Given the description of an element on the screen output the (x, y) to click on. 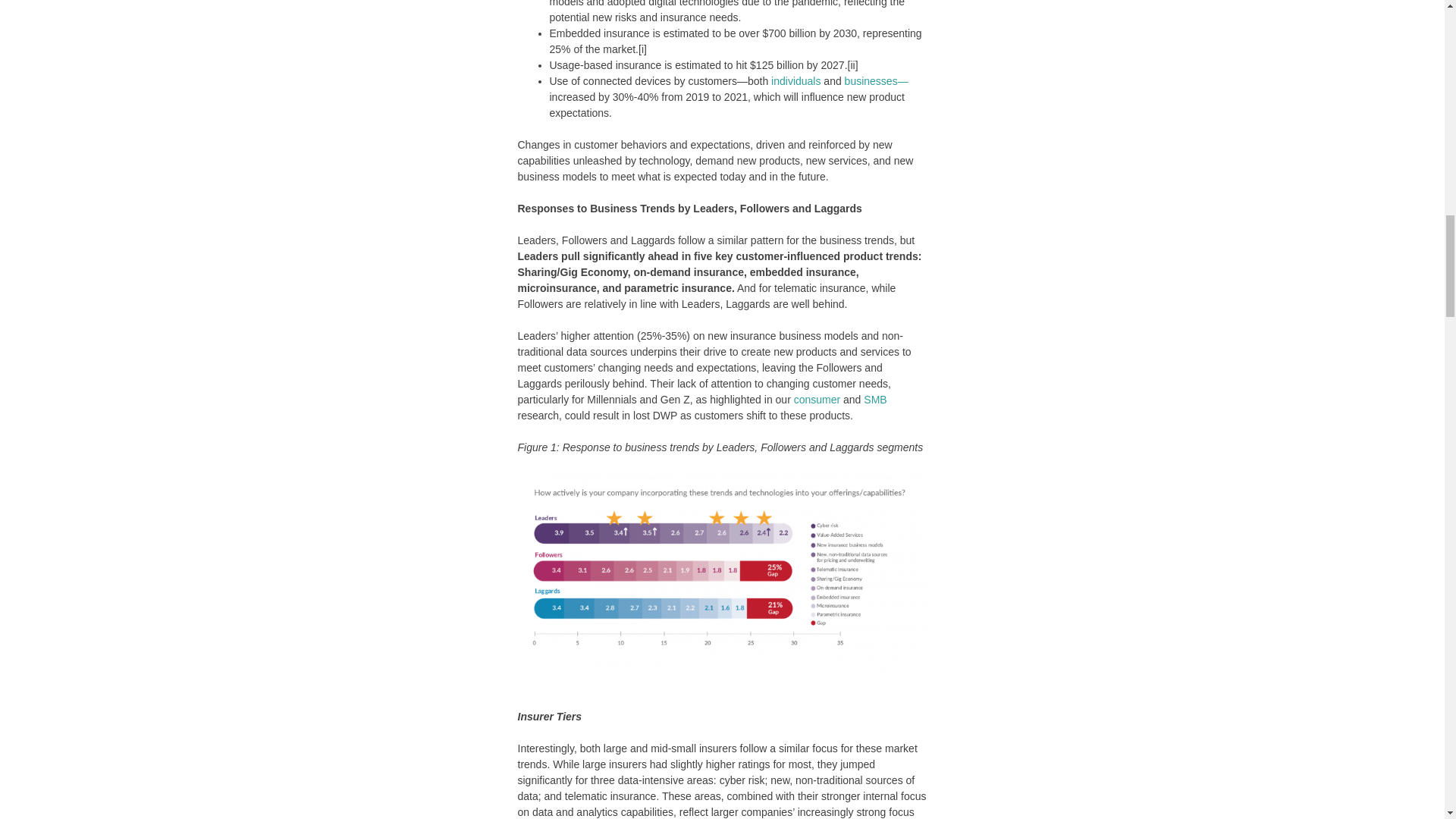
individuals (796, 80)
consumer (816, 399)
SMB (874, 399)
